Given the description of an element on the screen output the (x, y) to click on. 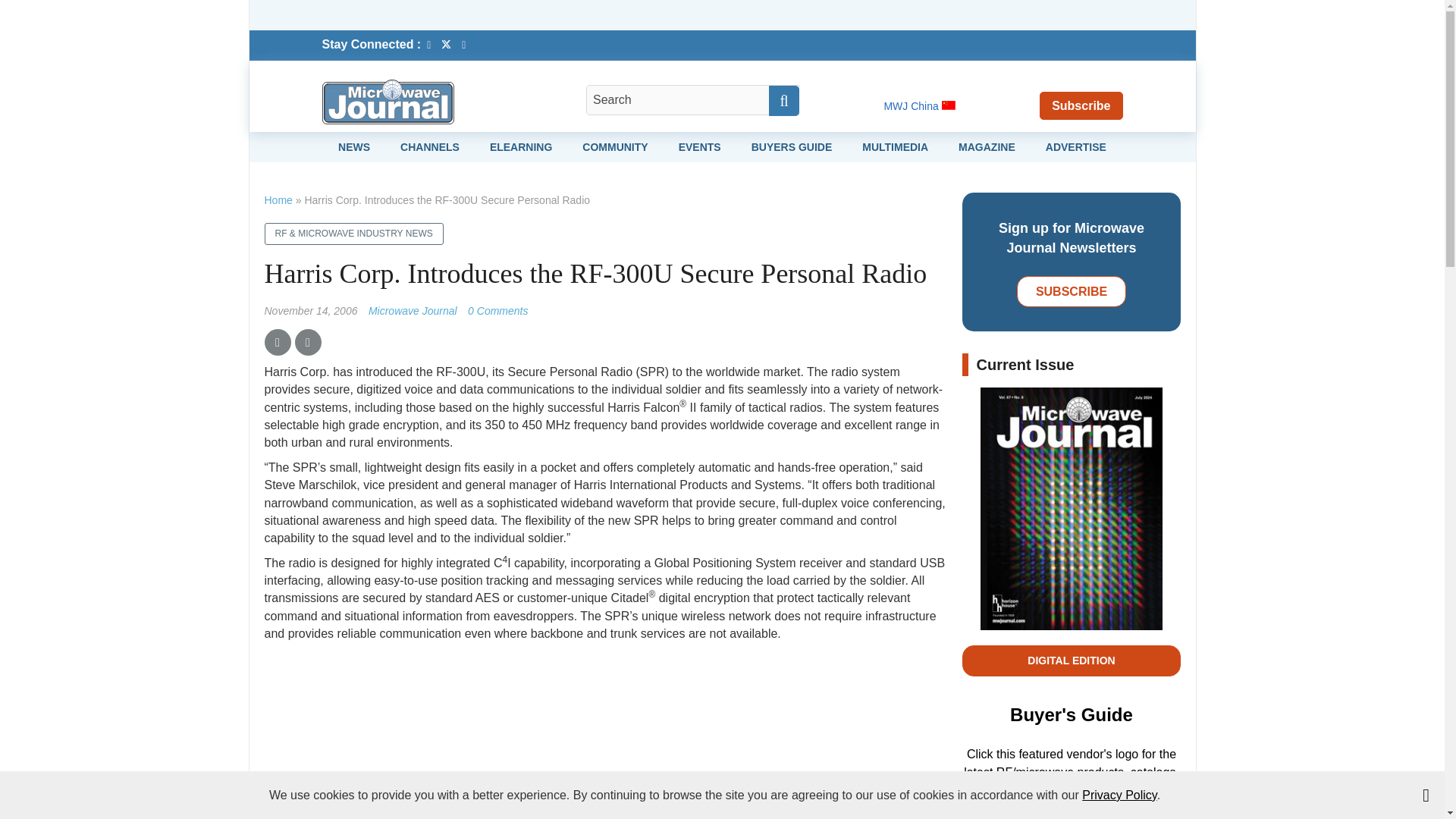
COMMUNITY (615, 146)
CHANNELS (430, 146)
NEWS (353, 146)
MWJ China (919, 105)
ELEARNING (520, 146)
Subscribe (1080, 105)
Harris Corp. Introduces the RF-300U Secure Personal Radio (497, 310)
Privacy Policy (1118, 794)
